Given the description of an element on the screen output the (x, y) to click on. 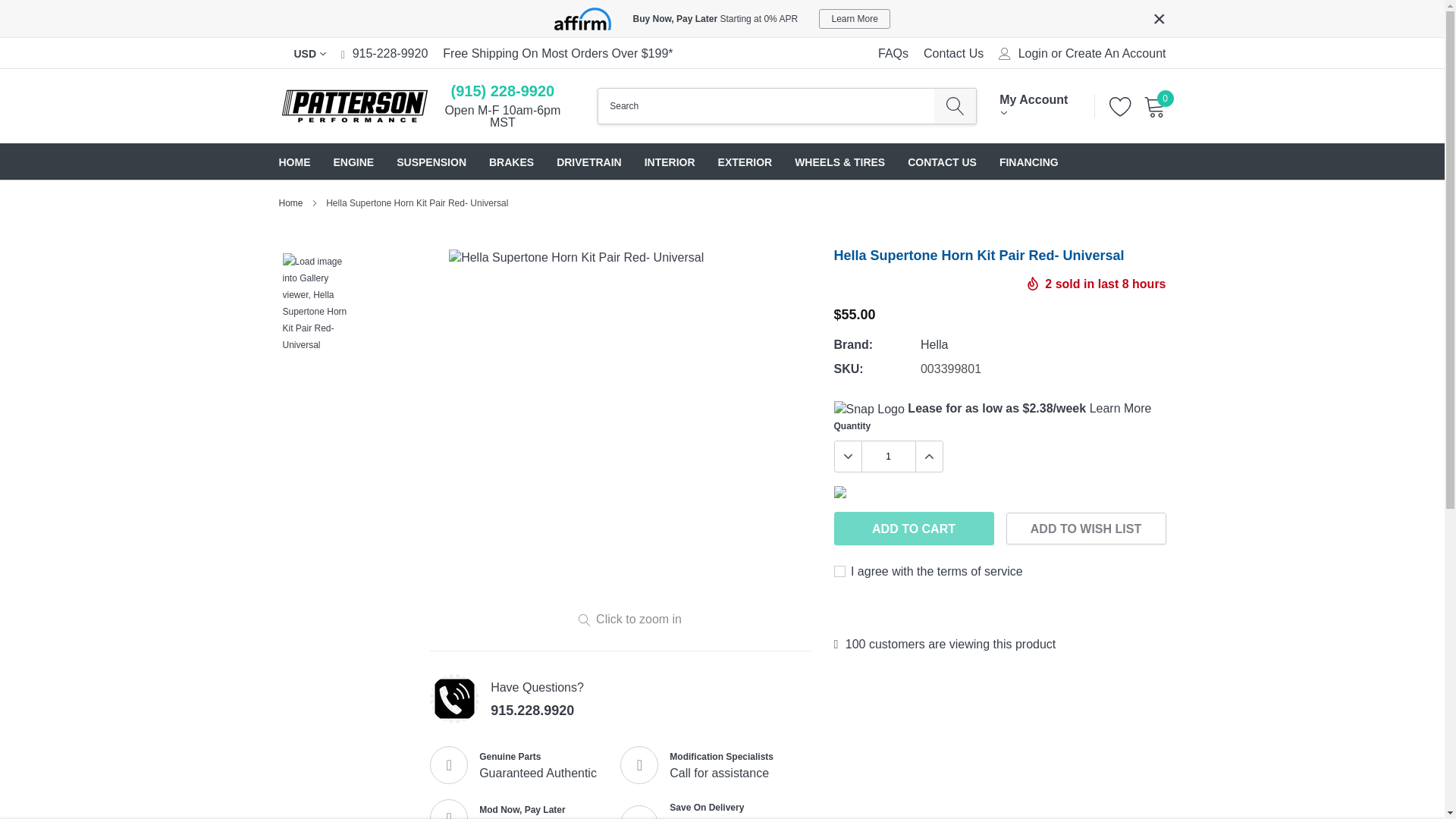
Hella (933, 344)
Contact Us (953, 52)
Login (1032, 53)
Create An Account (1115, 53)
1 (887, 456)
915-228-9920 (390, 52)
search (954, 105)
FAQs (892, 52)
